Given the description of an element on the screen output the (x, y) to click on. 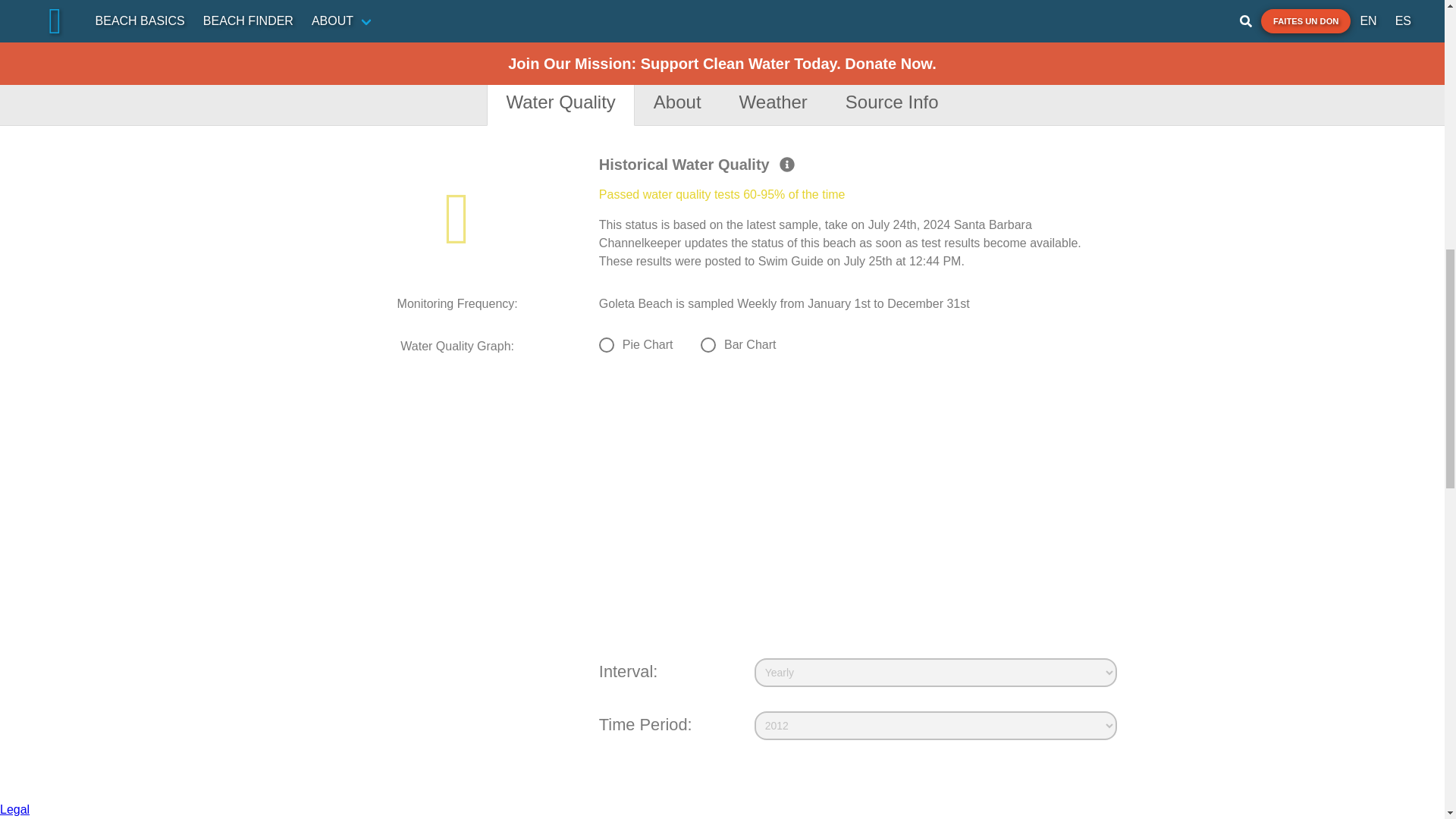
Source Info (892, 102)
Weather (773, 102)
About (677, 102)
Water Quality (559, 102)
